Given the description of an element on the screen output the (x, y) to click on. 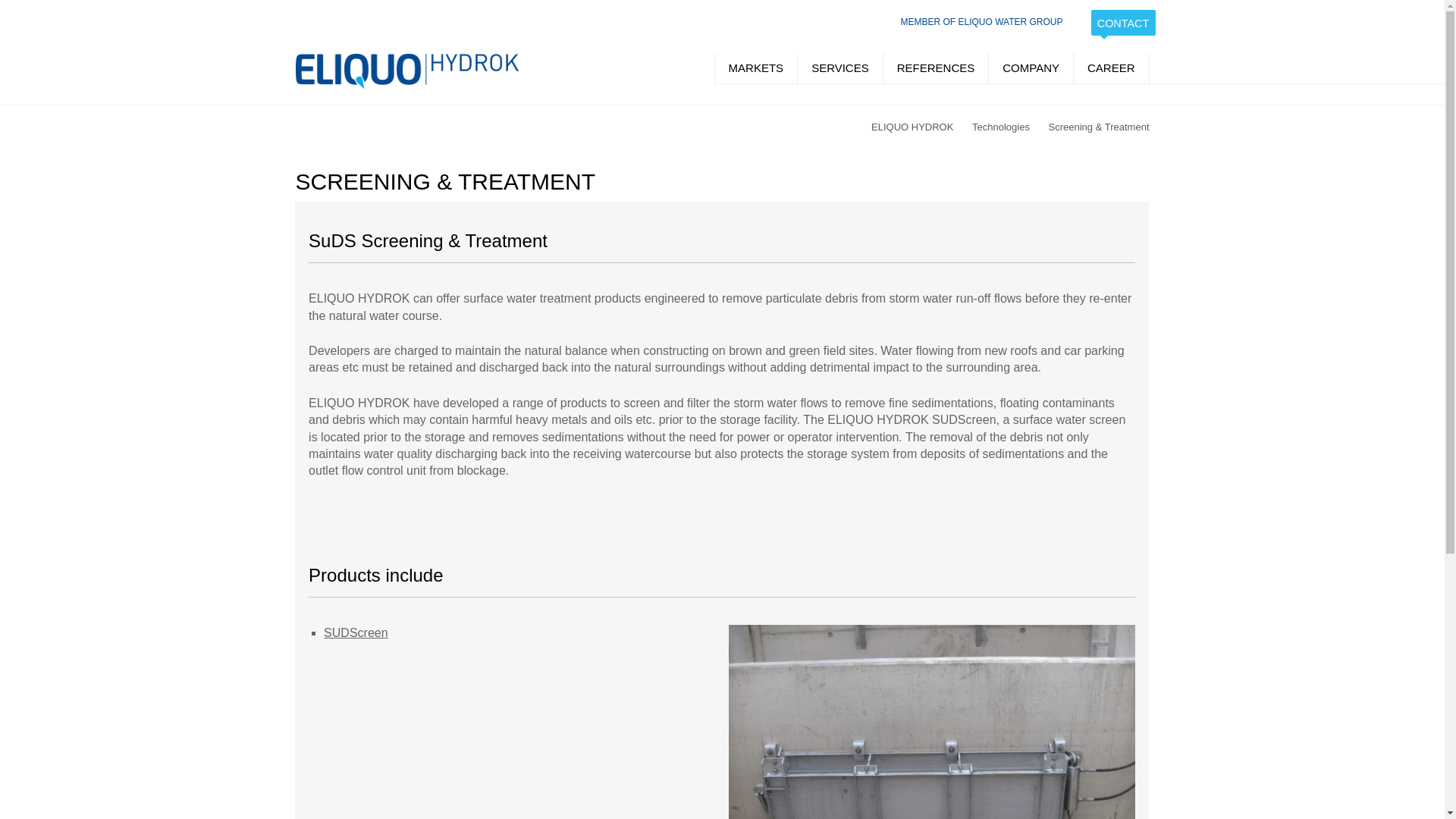
CONTACT (1122, 23)
ELIQUO WATER GROUP (1010, 21)
